Given the description of an element on the screen output the (x, y) to click on. 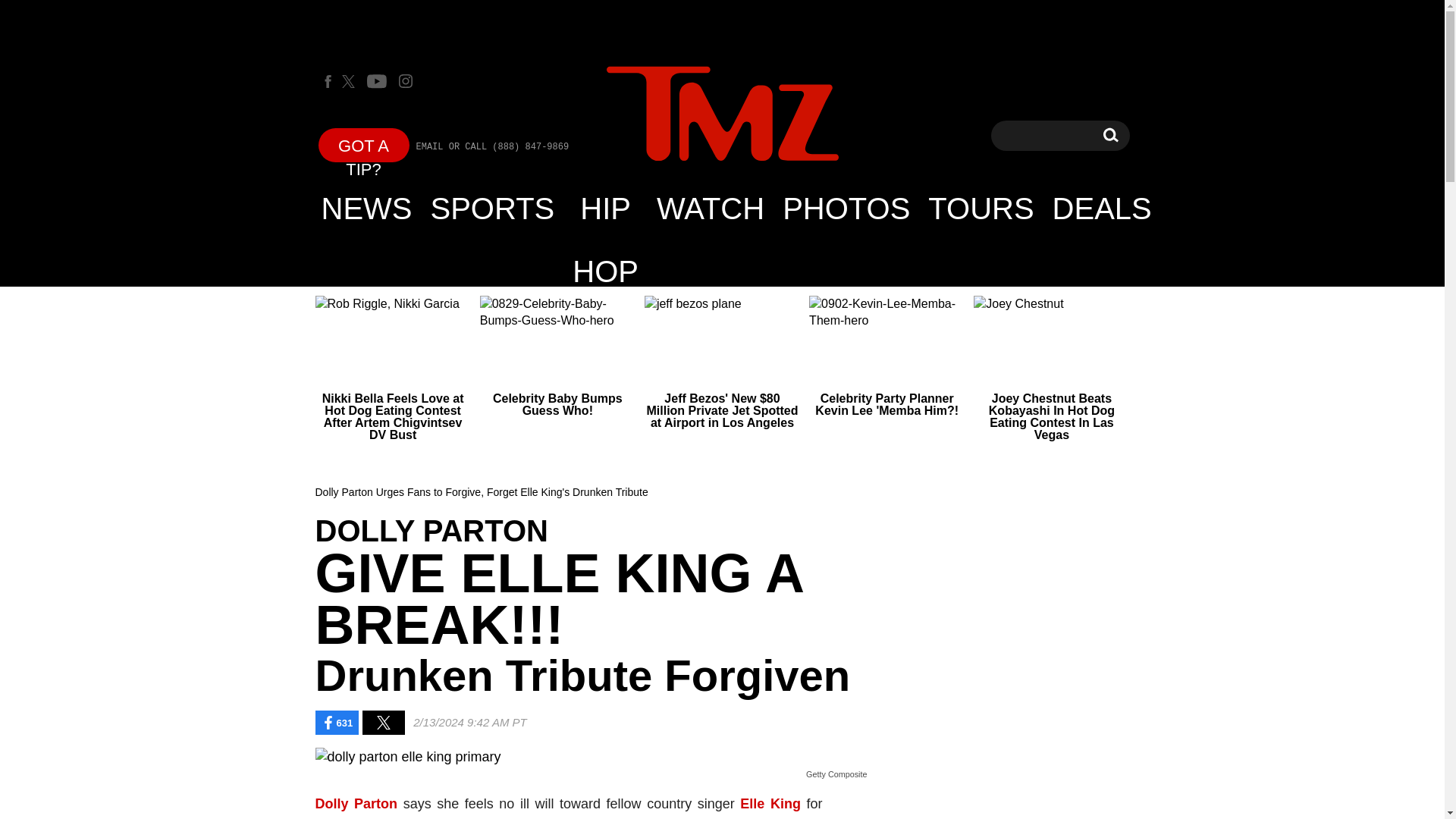
NEWS (367, 207)
Search (1110, 134)
HIP HOP (605, 207)
GOT A TIP? (1110, 135)
Skip to main content (363, 144)
SPORTS (722, 115)
PHOTOS (493, 207)
TOURS (845, 207)
